Given the description of an element on the screen output the (x, y) to click on. 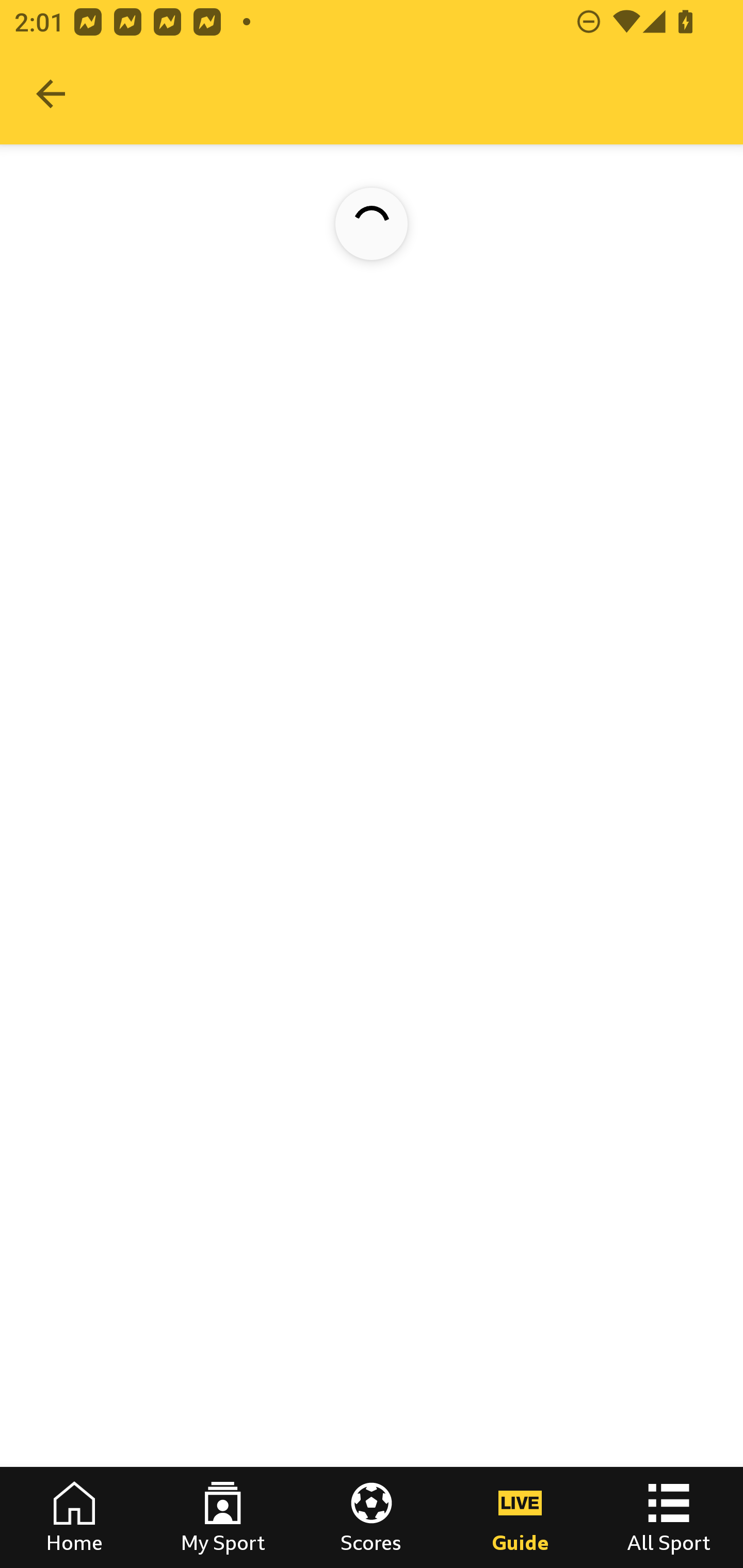
Navigate up (50, 93)
Home (74, 1517)
My Sport (222, 1517)
Scores (371, 1517)
All Sport (668, 1517)
